Given the description of an element on the screen output the (x, y) to click on. 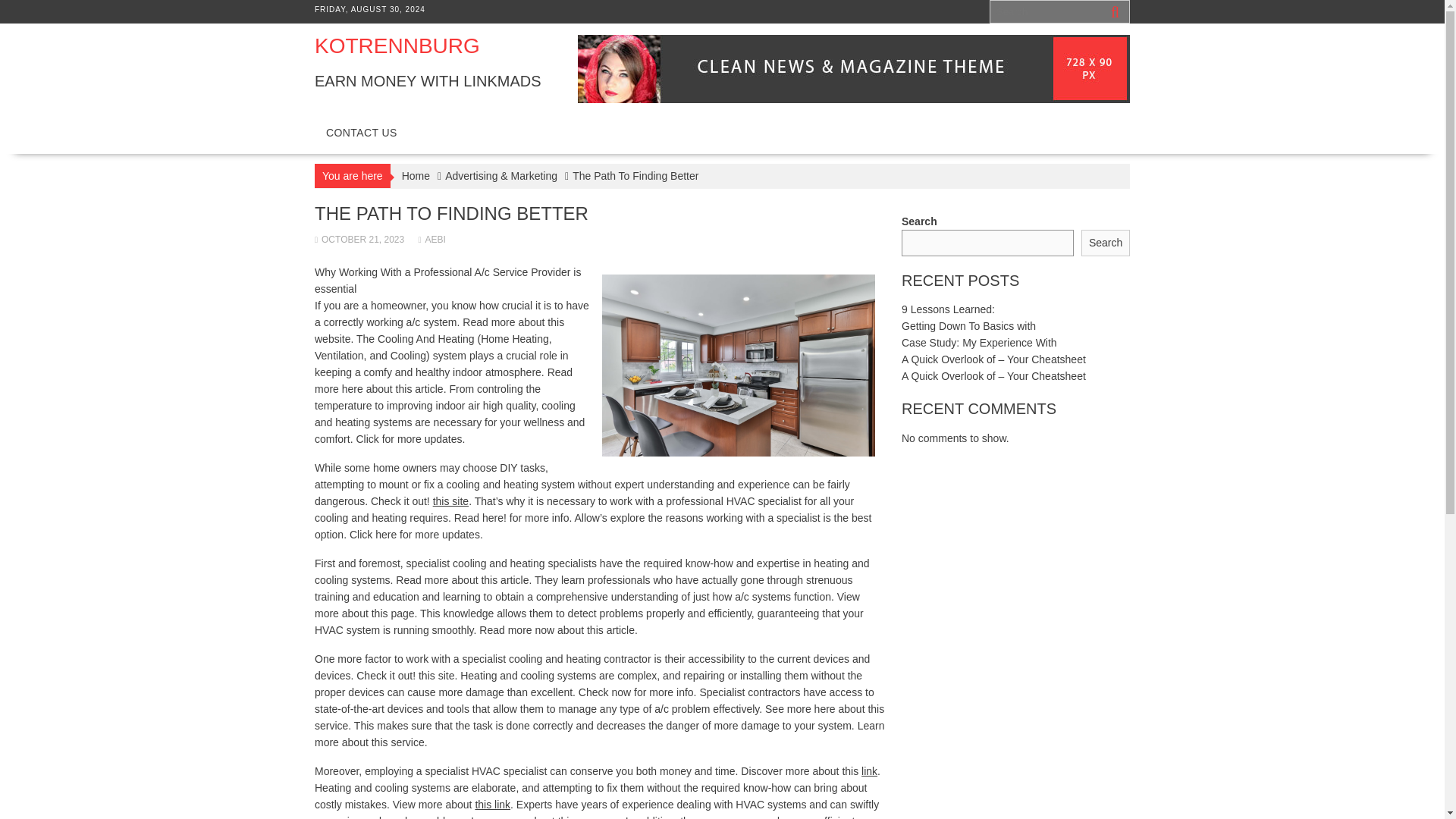
KOTRENNBURG (397, 45)
this site (450, 500)
Home (415, 175)
9 Lessons Learned: (947, 309)
OCTOBER 21, 2023 (359, 239)
link (869, 770)
AEBI (432, 239)
Case Study: My Experience With (979, 342)
Search (1105, 243)
this link (492, 804)
